Given the description of an element on the screen output the (x, y) to click on. 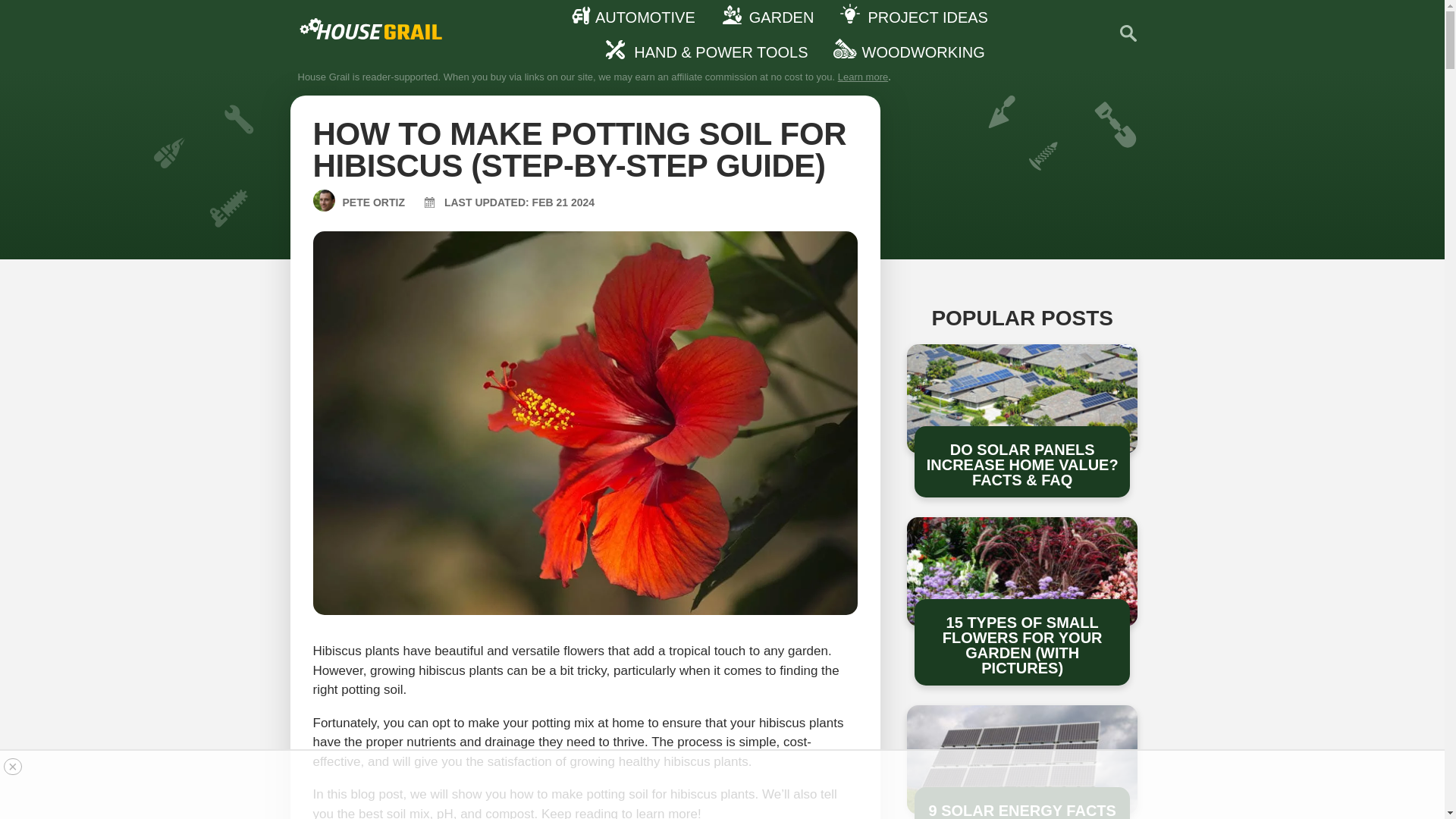
WOODWORKING (913, 52)
GARDEN (771, 17)
AUTOMOTIVE (635, 17)
Learn more (863, 76)
PROJECT IDEAS (918, 17)
